Given the description of an element on the screen output the (x, y) to click on. 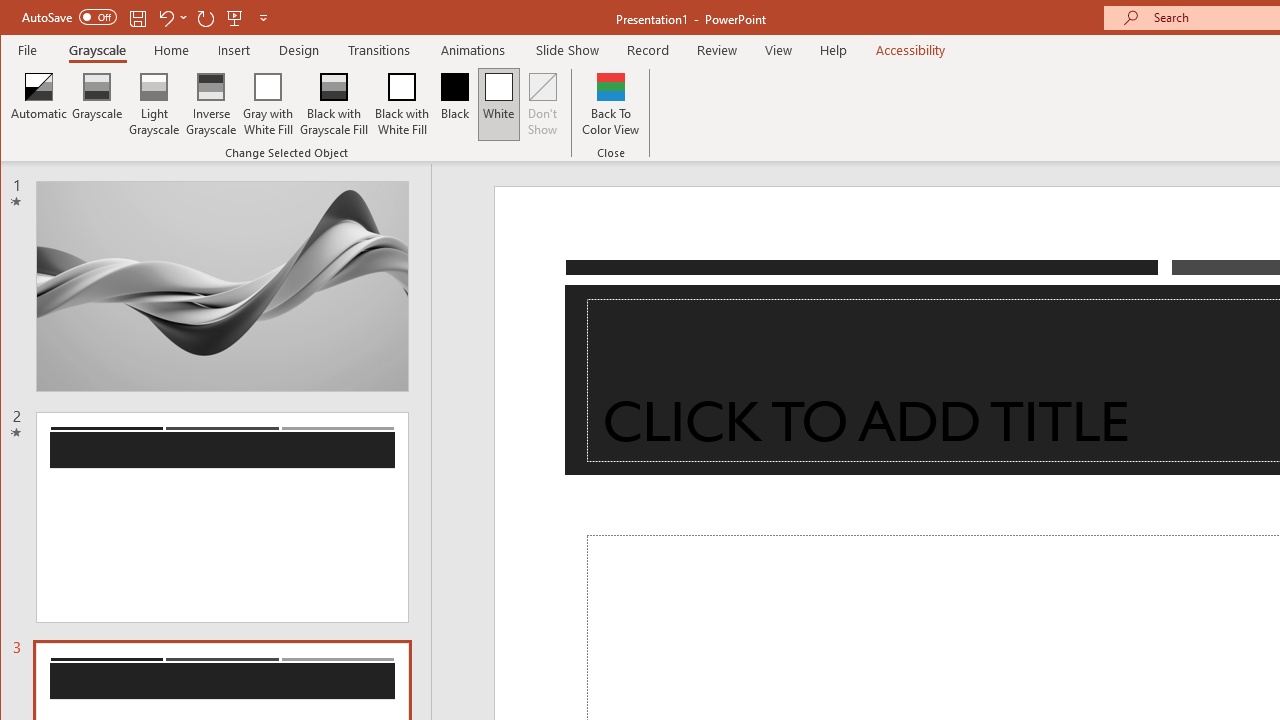
Back To Color View (610, 104)
Don't Show (543, 104)
Black with White Fill (402, 104)
